Given the description of an element on the screen output the (x, y) to click on. 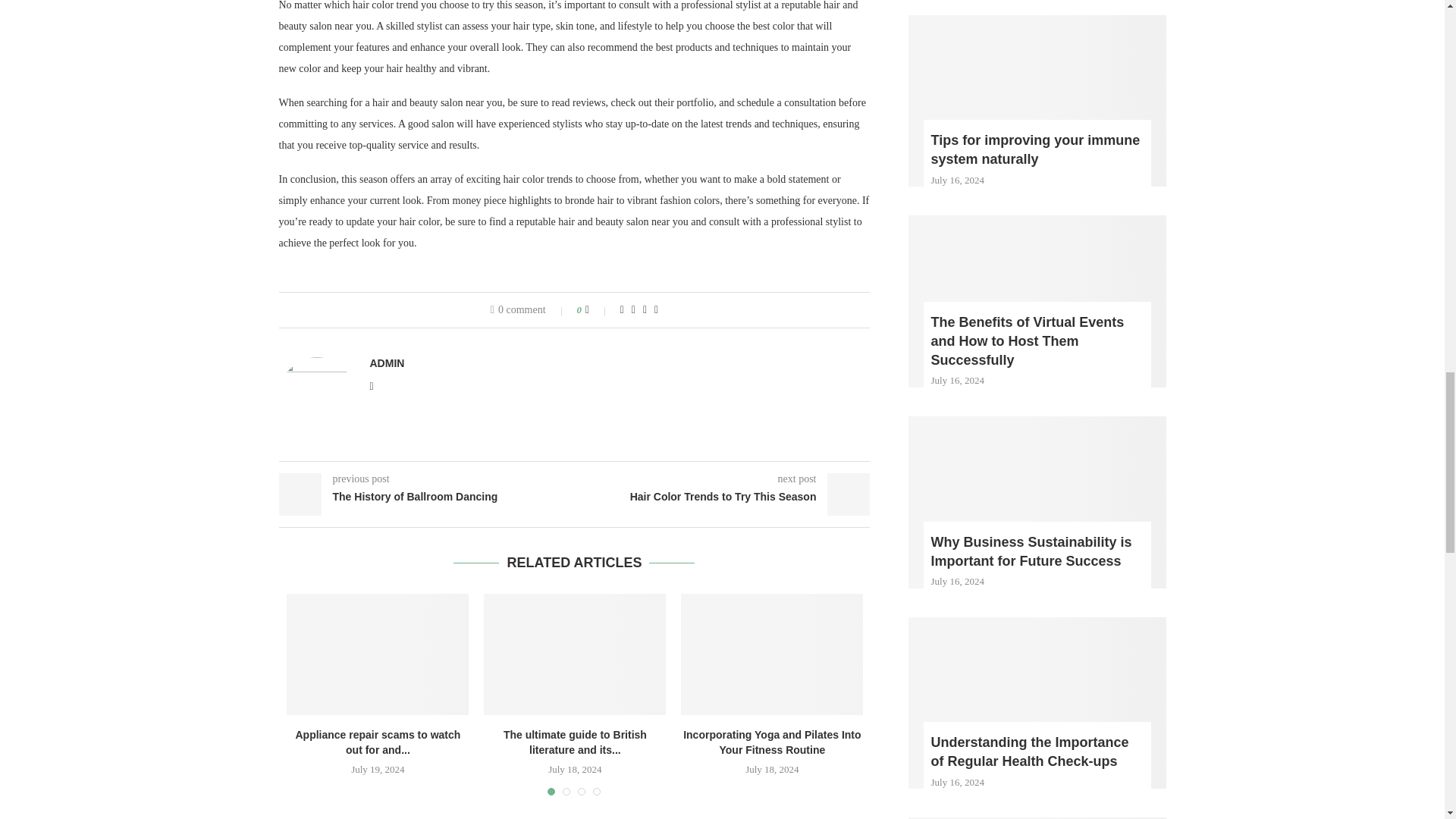
The ultimate guide to British literature and its impact (574, 653)
Incorporating Yoga and Pilates Into Your Fitness Routine (772, 653)
Author admin (386, 363)
Like (597, 309)
